Given the description of an element on the screen output the (x, y) to click on. 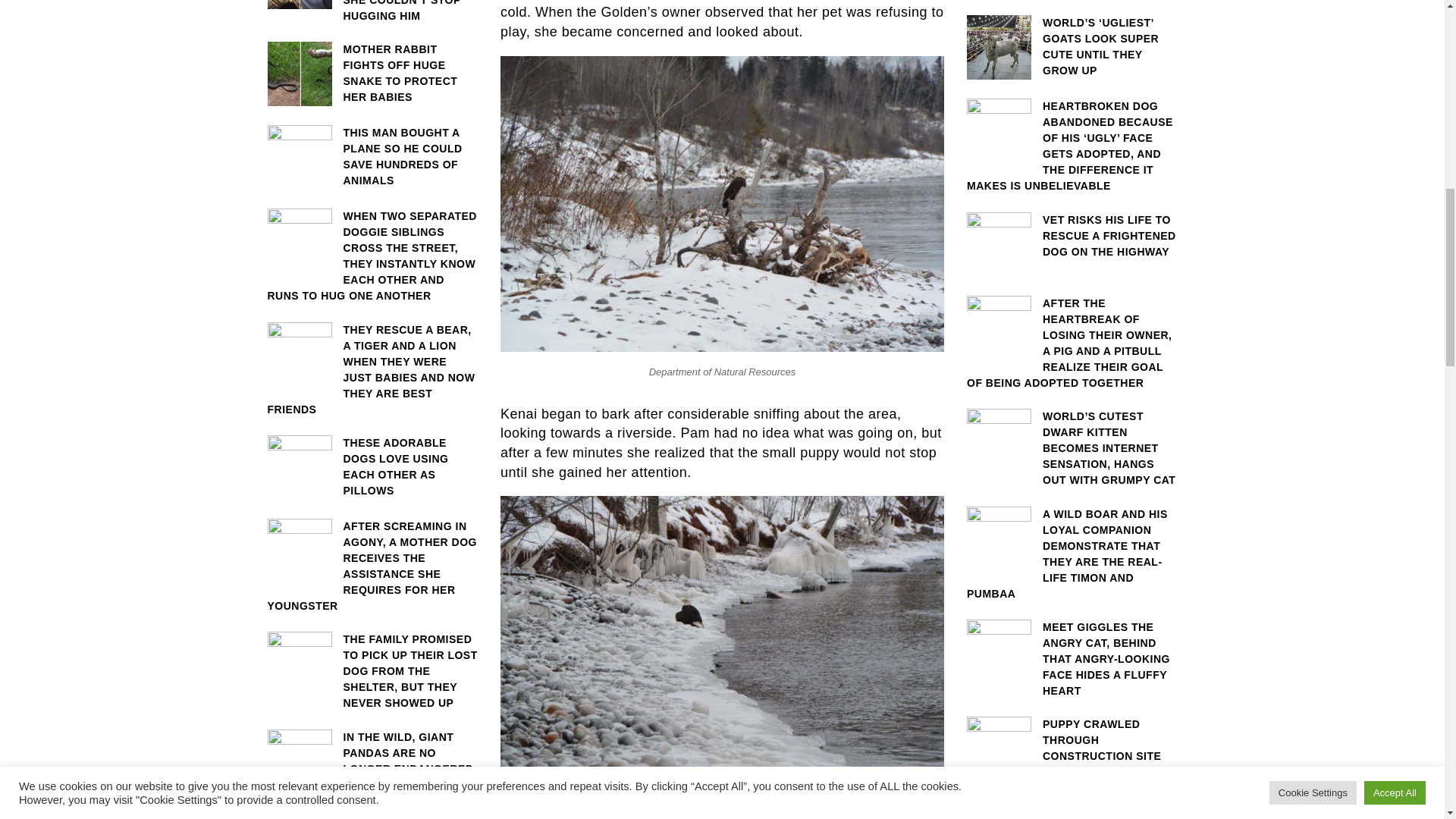
MOTHER RABBIT FIGHTS OFF HUGE SNAKE TO PROTECT HER BABIES (371, 73)
VET RISKS HIS LIFE TO RESCUE A FRIGHTENED DOG ON THE HIGHWAY (1071, 236)
IN THE WILD, GIANT PANDAS ARE NO LONGER ENDANGERED (371, 753)
THIS MAN BOUGHT A PLANE SO HE COULD SAVE HUNDREDS OF ANIMALS (371, 157)
THESE ADORABLE DOGS LOVE USING EACH OTHER AS PILLOWS (371, 466)
